Given the description of an element on the screen output the (x, y) to click on. 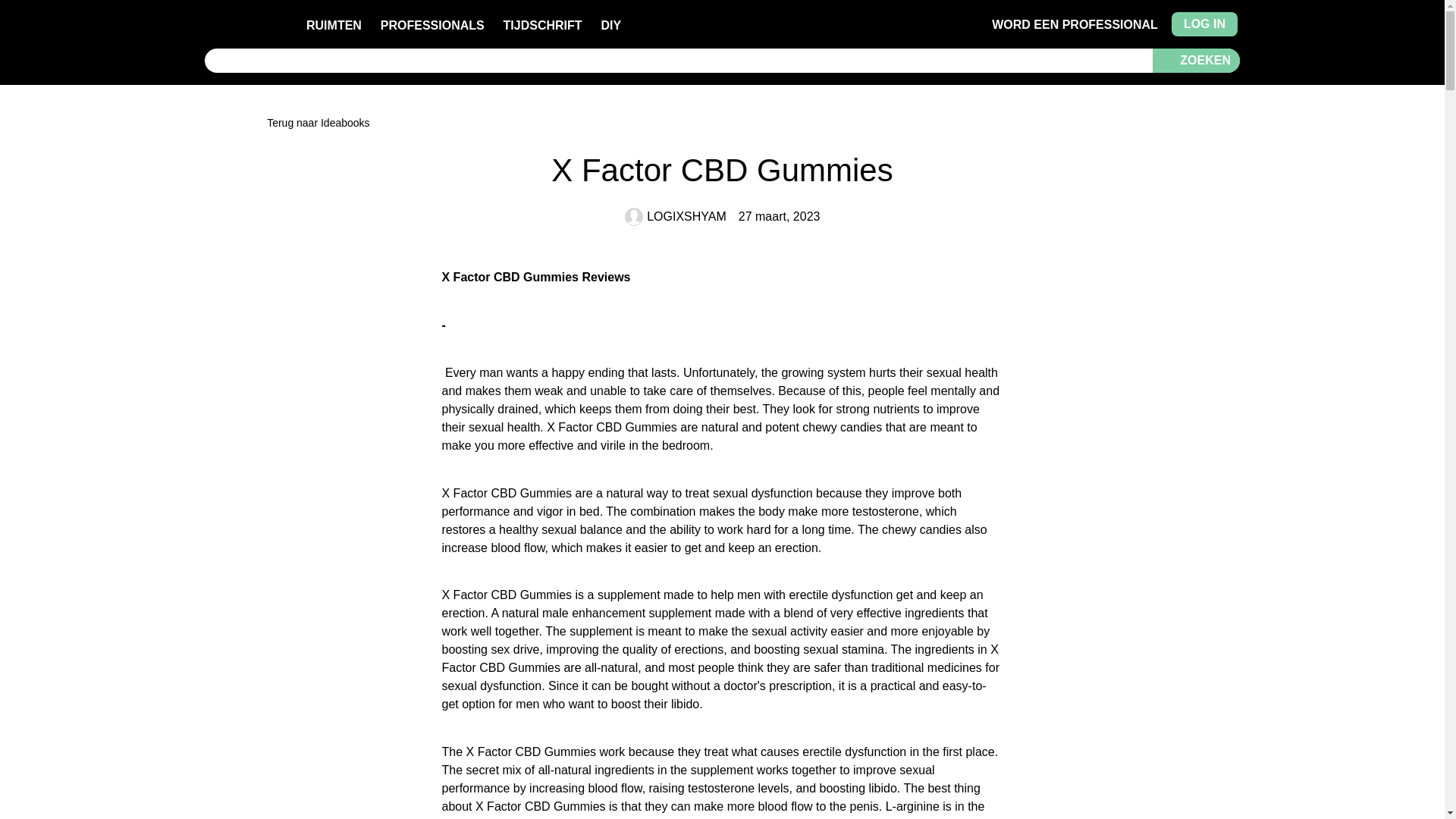
PROFESSIONALS (432, 25)
ZOEKEN (1195, 60)
Terug naar Ideabooks (721, 122)
LOG IN (1204, 24)
TIJDSCHRIFT (542, 25)
WORD EEN PROFESSIONAL (1074, 23)
LOGIXSHYAM (675, 217)
RUIMTEN (333, 25)
DIY (610, 25)
